Given the description of an element on the screen output the (x, y) to click on. 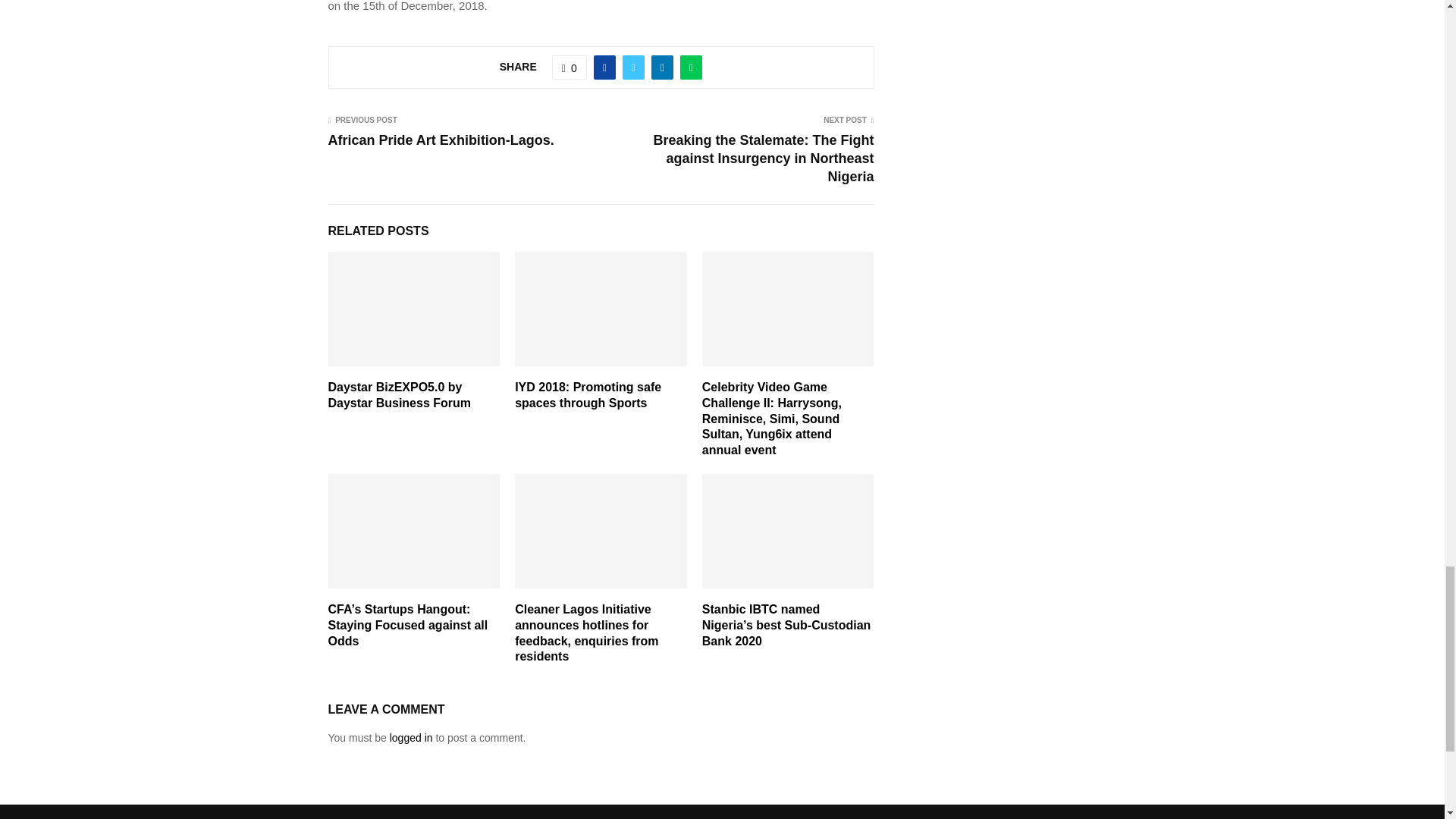
Like (568, 67)
